Given the description of an element on the screen output the (x, y) to click on. 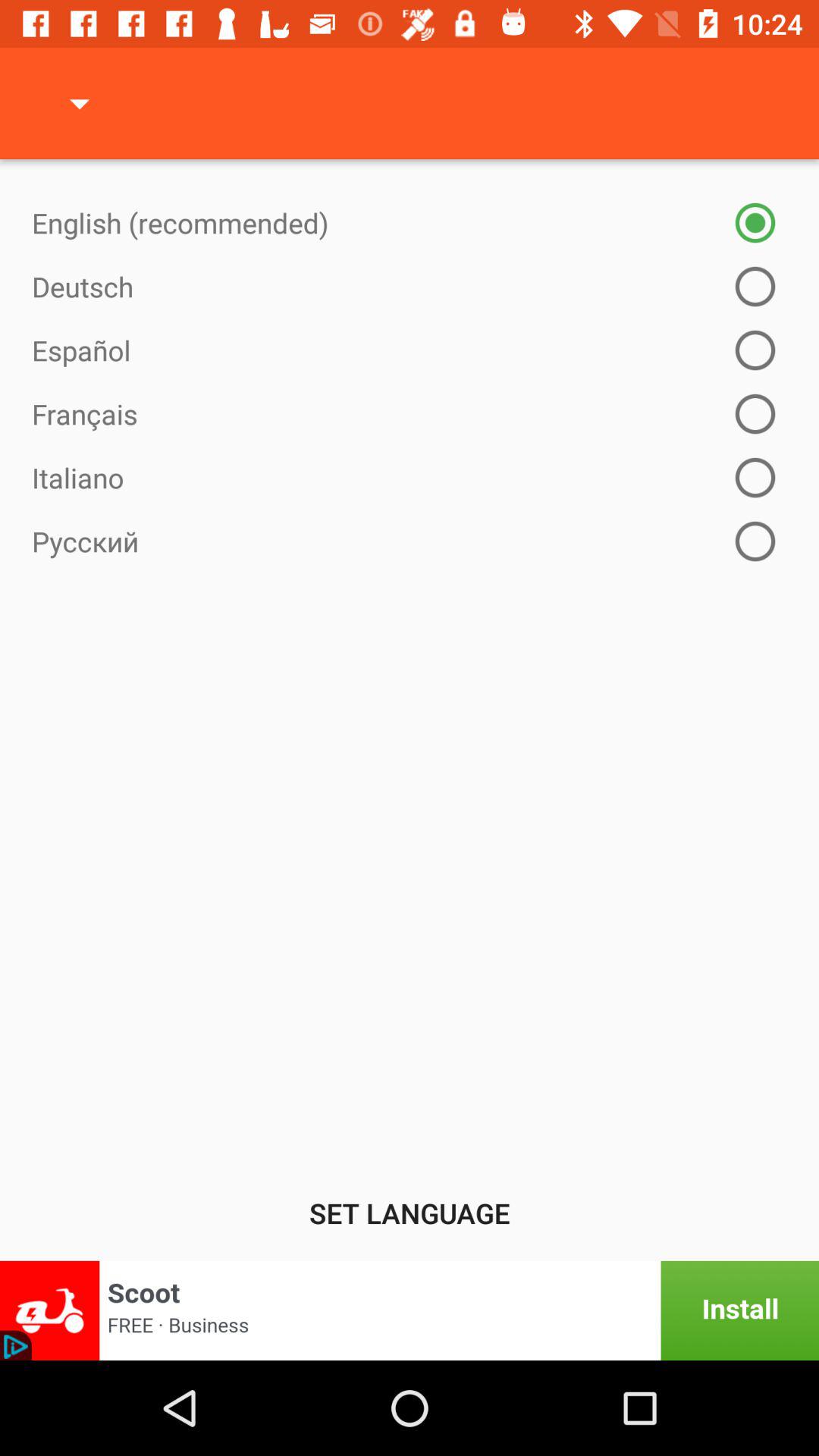
select item above english (recommended) item (79, 103)
